Given the description of an element on the screen output the (x, y) to click on. 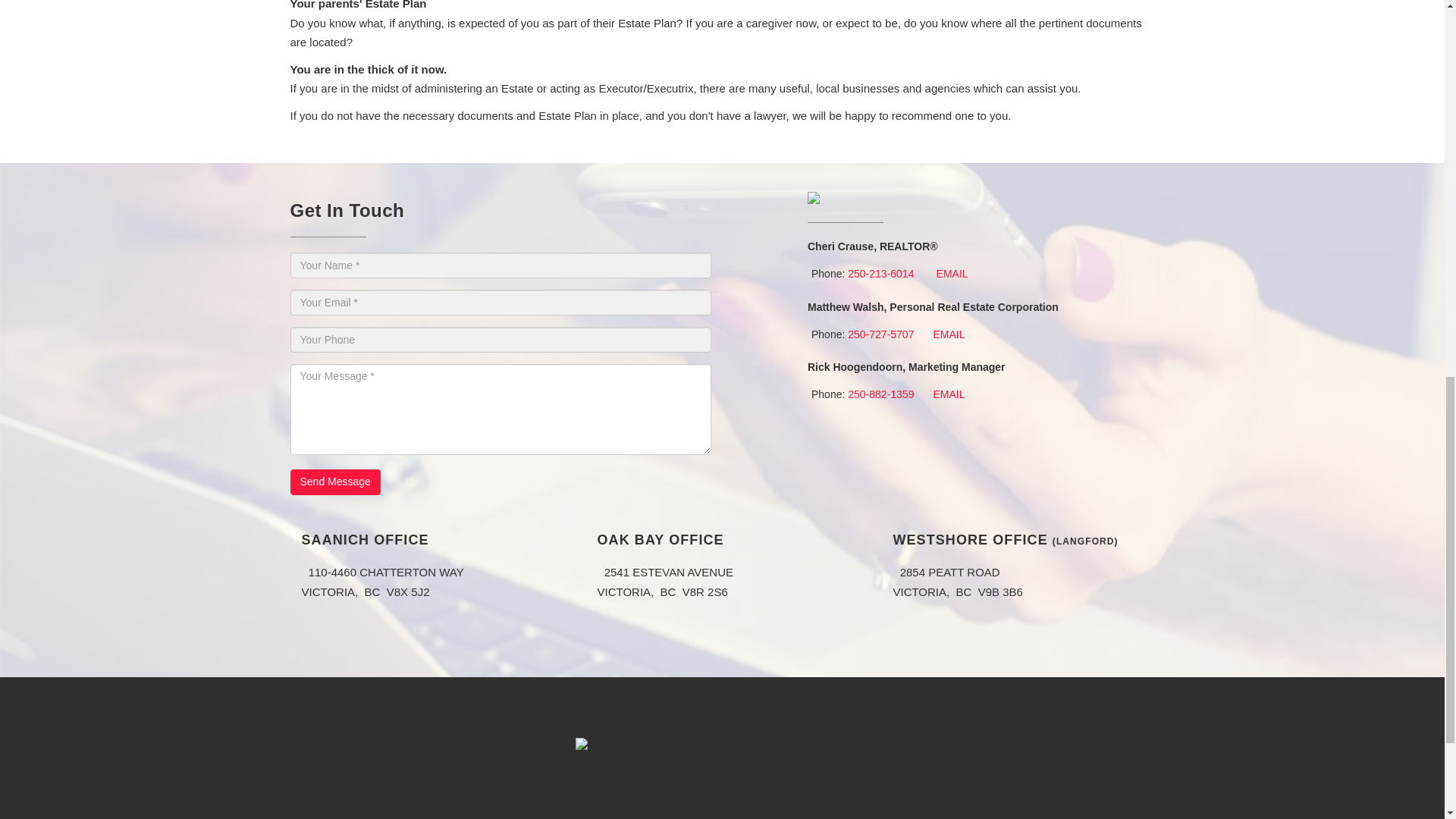
250-213-6014 (880, 273)
Send Message (334, 482)
EMAIL (948, 334)
250-727-5707 (880, 334)
EMAIL (948, 394)
EMAIL (952, 273)
250-882-1359 (880, 394)
